Given the description of an element on the screen output the (x, y) to click on. 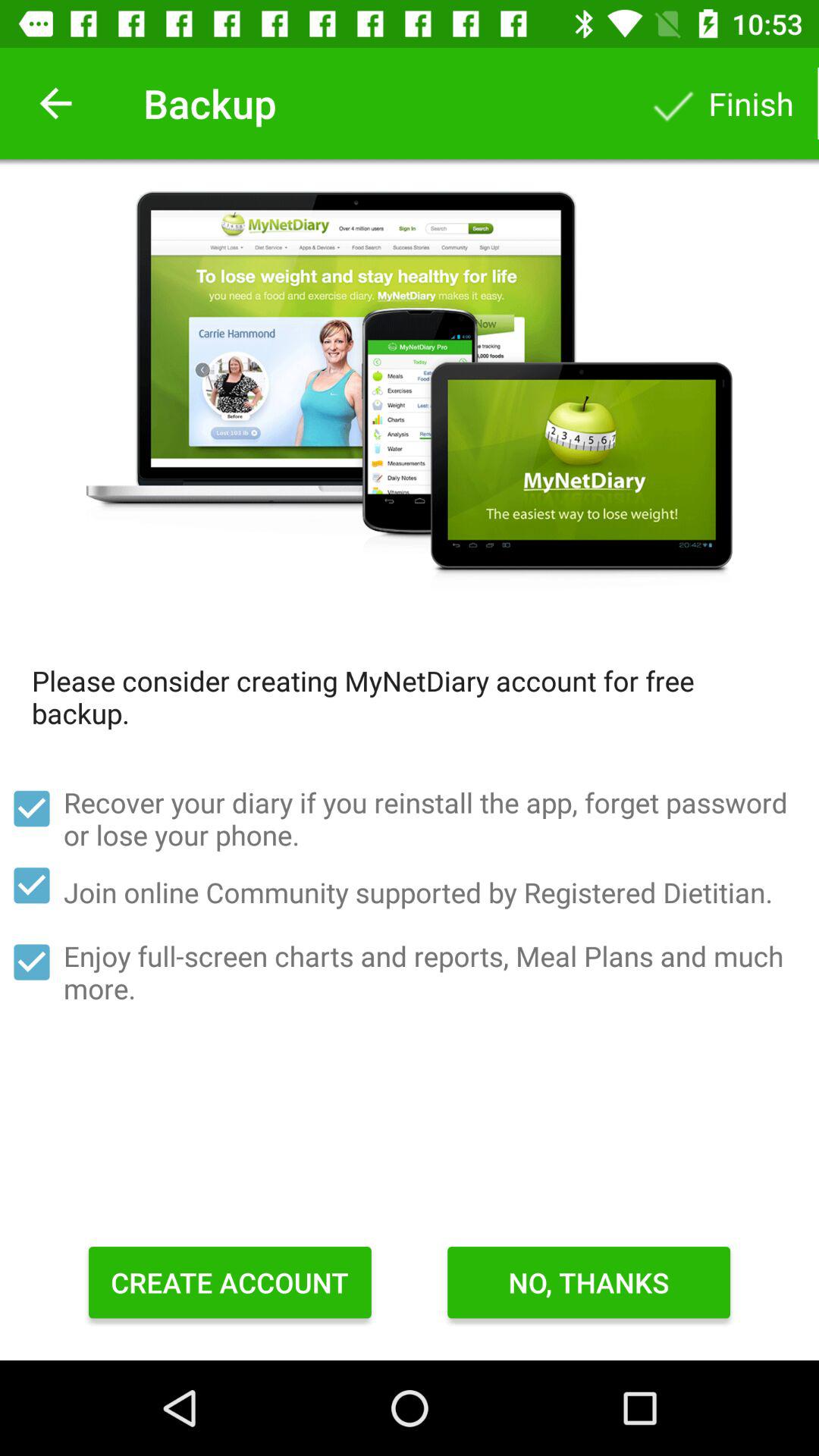
select create account item (229, 1282)
